Given the description of an element on the screen output the (x, y) to click on. 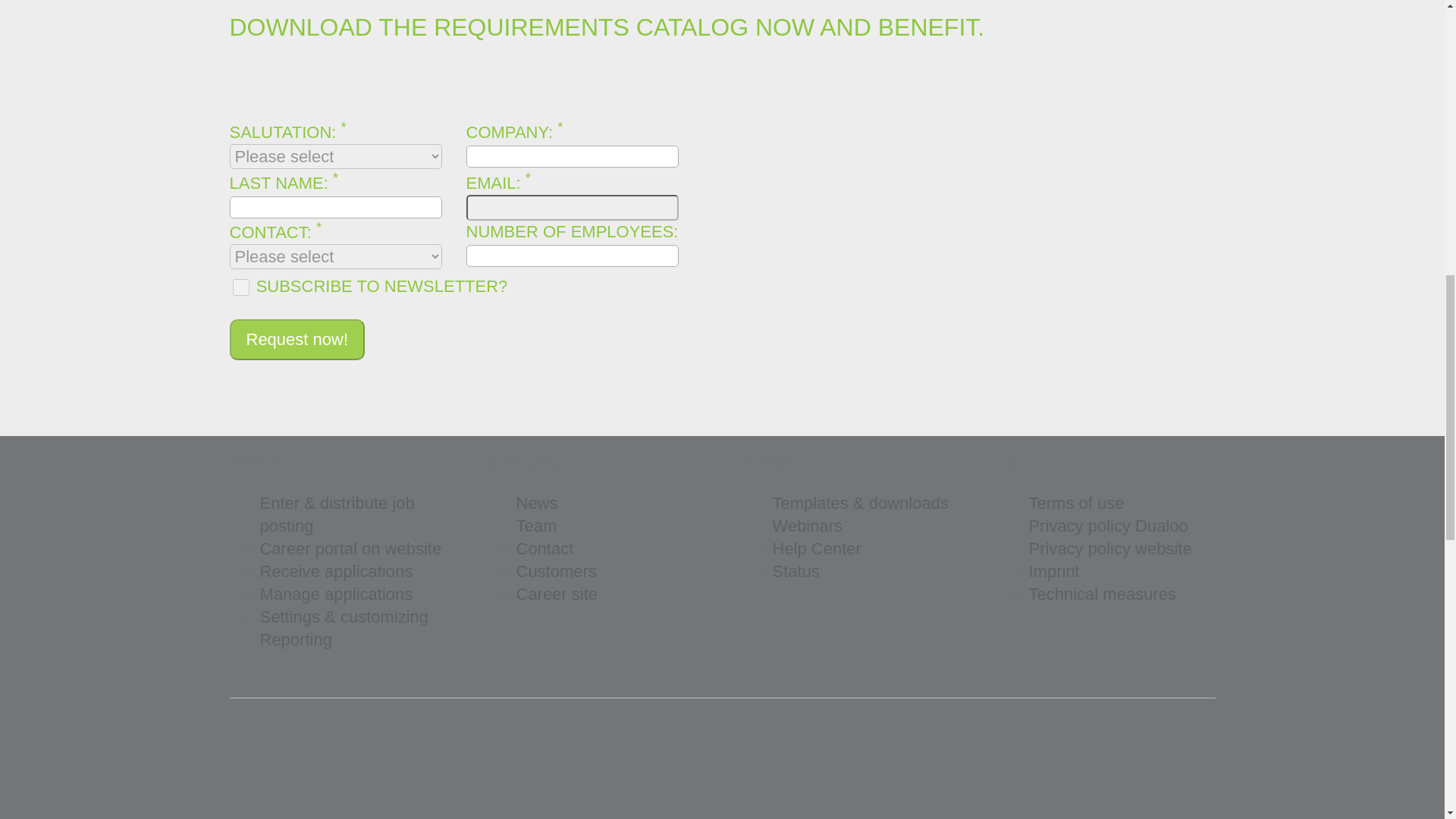
Terms of use (1075, 502)
Manage applications (335, 593)
Help Center from Dualoo - Cloud HR for SMEs (815, 547)
Imprint (1052, 570)
Contact (544, 547)
Request now! (296, 339)
Request now! (296, 339)
News about Dualoo - Cloud HR for SMEs (536, 502)
Reporting (295, 639)
Customers (555, 570)
